Given the description of an element on the screen output the (x, y) to click on. 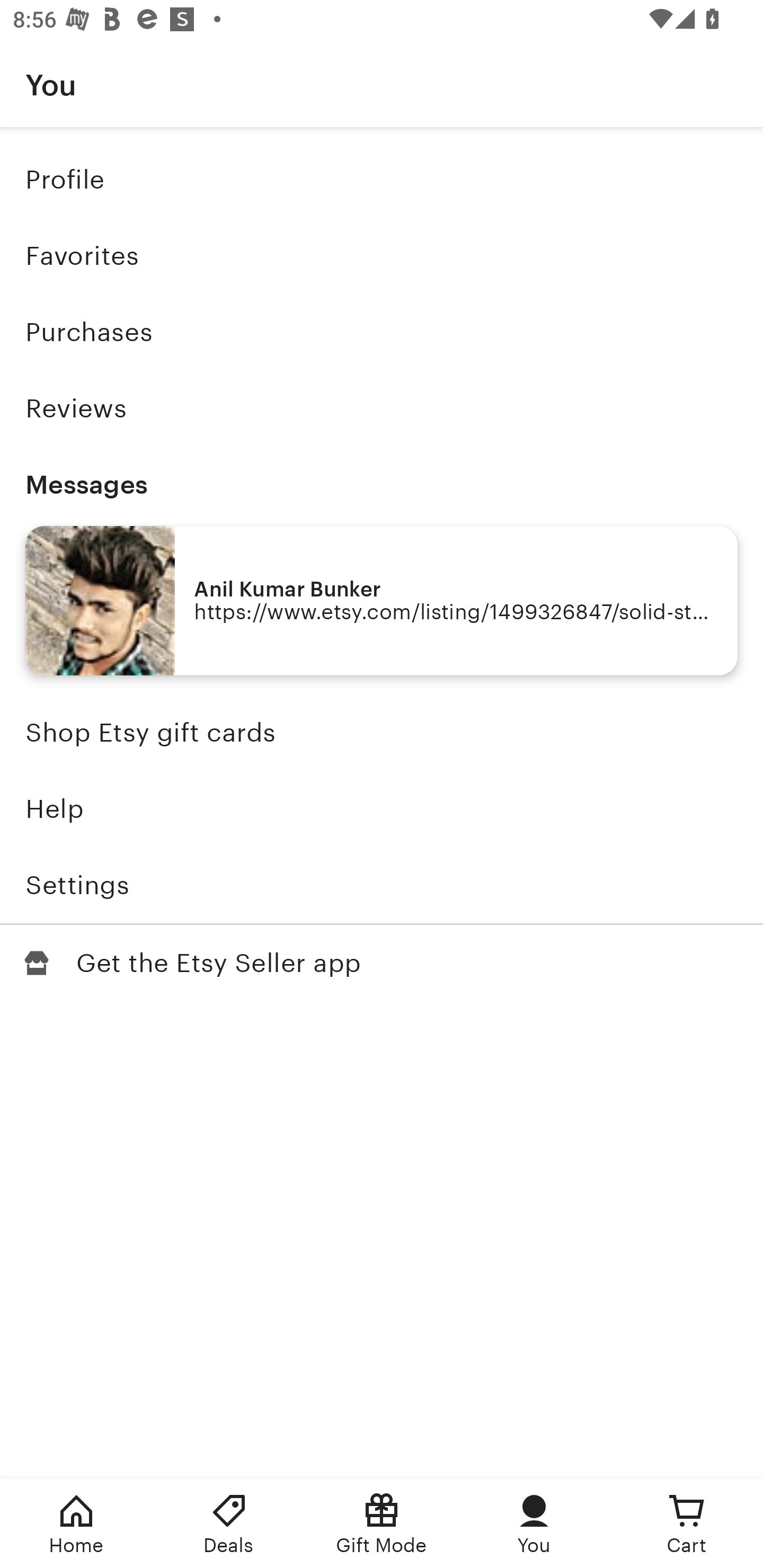
Profile (381, 179)
Favorites (381, 255)
Purchases (381, 332)
Reviews (381, 408)
Messages (381, 484)
Shop Etsy gift cards (381, 732)
Help (381, 808)
Settings (381, 884)
Get the Etsy Seller app (381, 963)
Home (76, 1523)
Deals (228, 1523)
Gift Mode (381, 1523)
Cart (686, 1523)
